Given the description of an element on the screen output the (x, y) to click on. 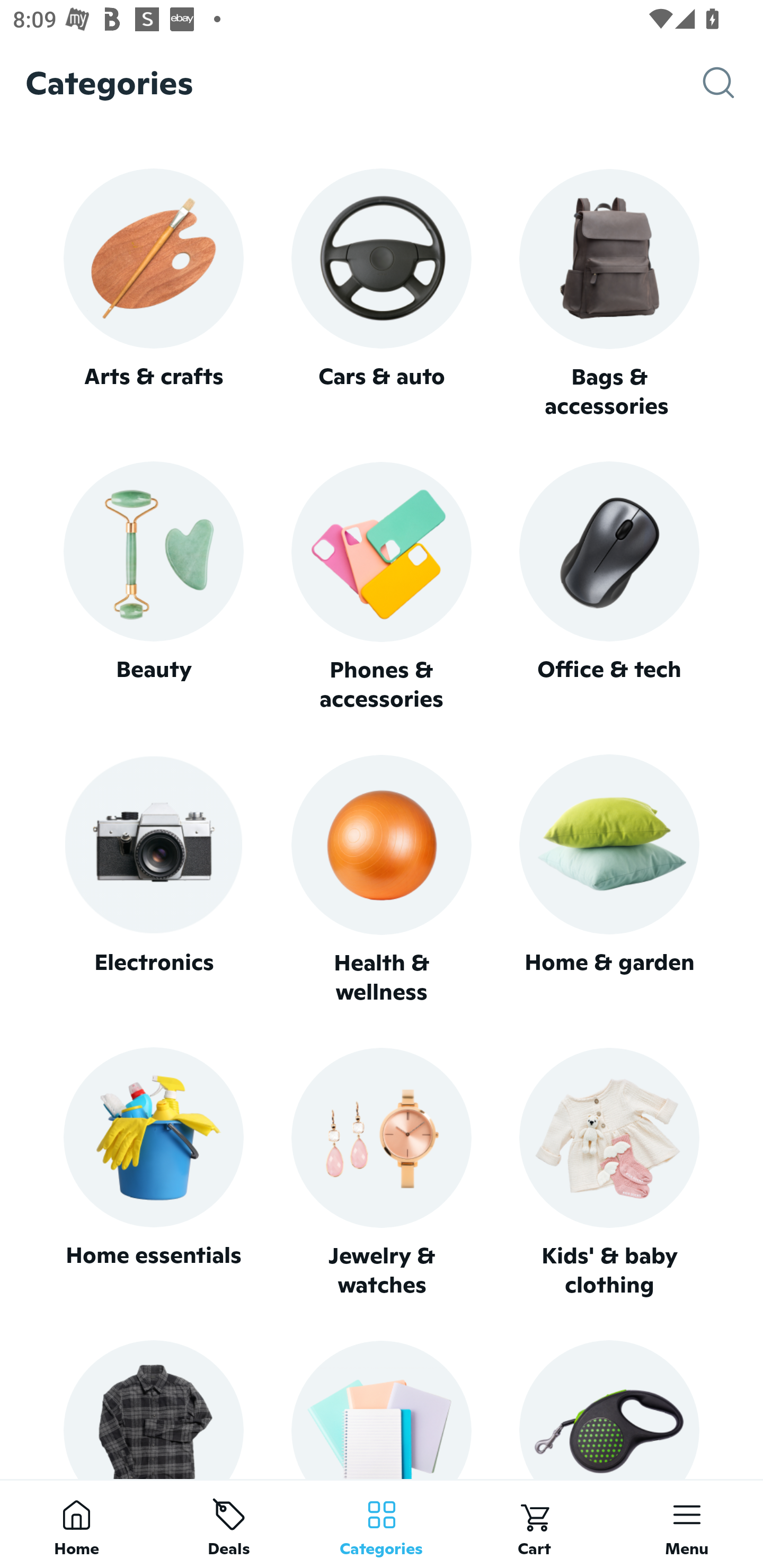
Search (732, 82)
Arts & crafts (153, 293)
Cars & auto (381, 293)
Bags & accessories  (609, 294)
Beauty (153, 586)
Office & tech (609, 586)
Phones & accessories (381, 587)
Electronics (153, 880)
Home & garden (609, 880)
Health & wellness (381, 880)
Home essentials (153, 1172)
Jewelry & watches (381, 1172)
Kids' & baby clothing (609, 1172)
Men's clothing (153, 1409)
Pet supplies (609, 1409)
Office & school supplies (381, 1409)
Home (76, 1523)
Deals (228, 1523)
Categories (381, 1523)
Cart (533, 1523)
Menu (686, 1523)
